Given the description of an element on the screen output the (x, y) to click on. 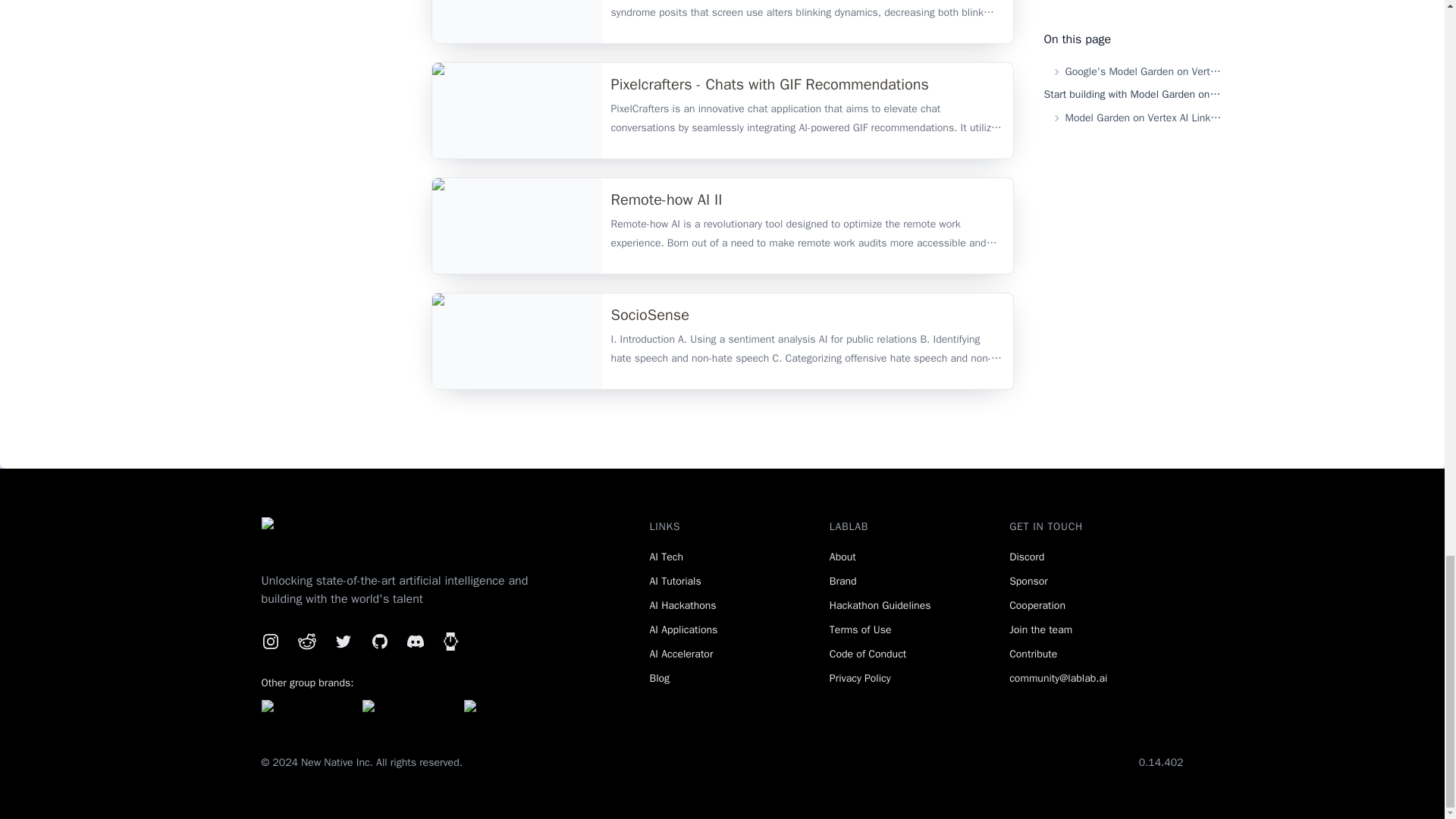
Instagram (269, 641)
